Given the description of an element on the screen output the (x, y) to click on. 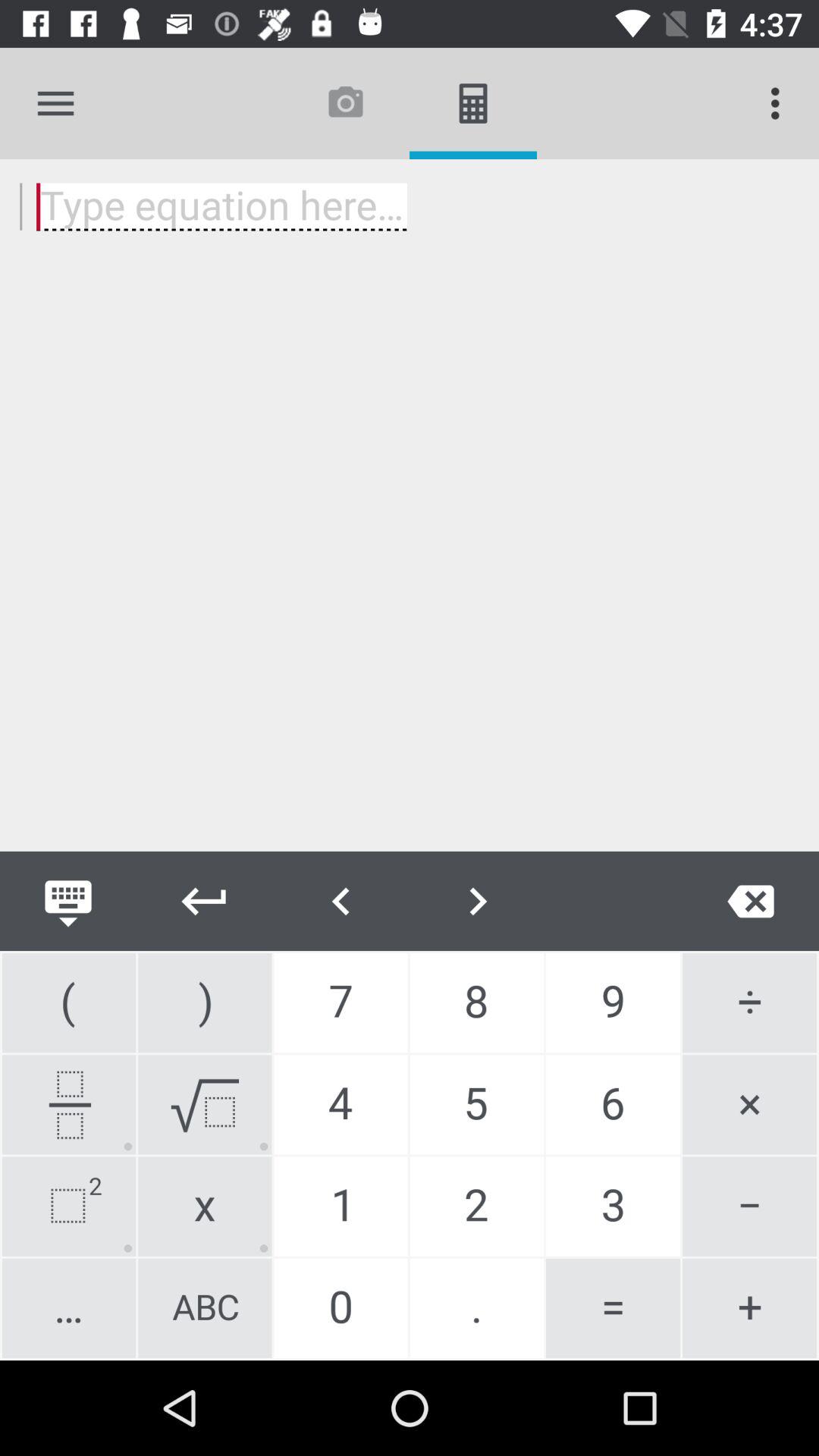
go to next (204, 900)
